Given the description of an element on the screen output the (x, y) to click on. 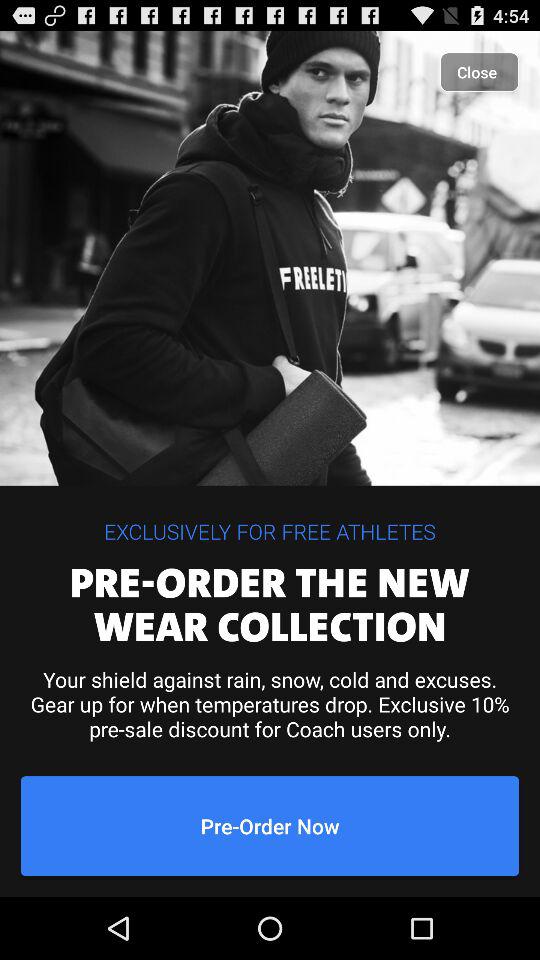
open the icon above the exclusively for free (479, 71)
